Given the description of an element on the screen output the (x, y) to click on. 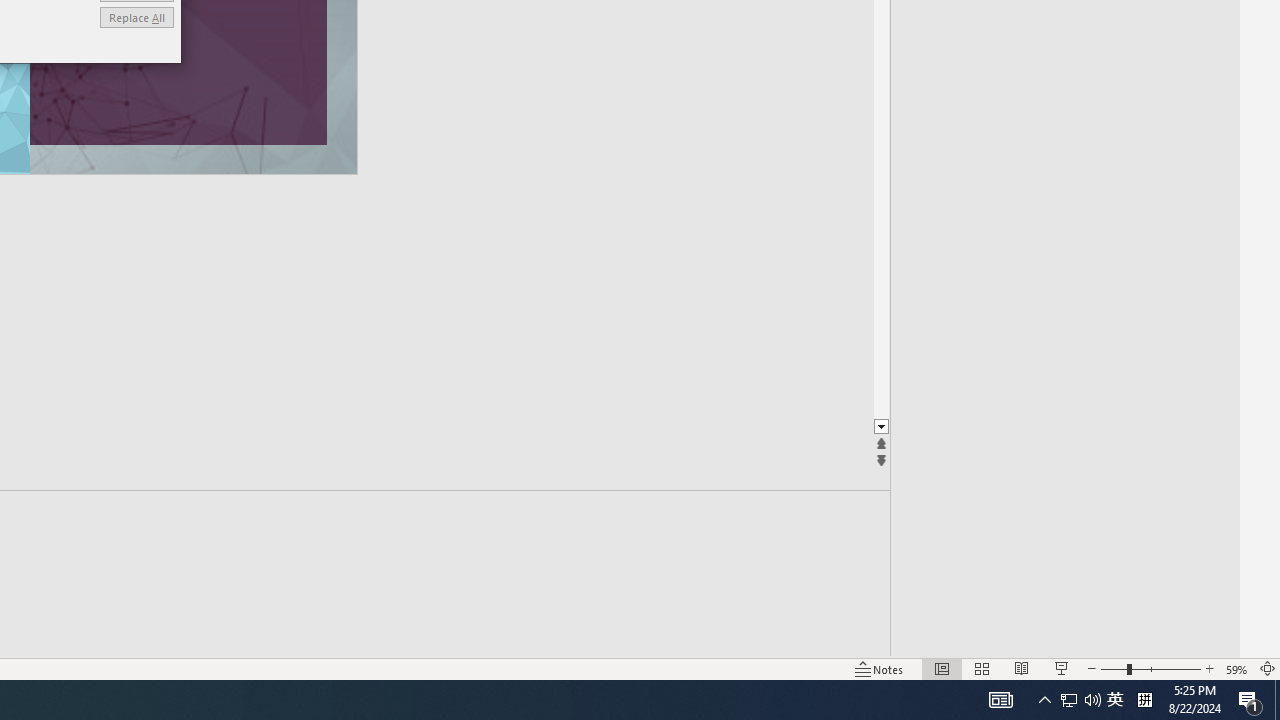
Action Center, 1 new notification (1250, 699)
